Given the description of an element on the screen output the (x, y) to click on. 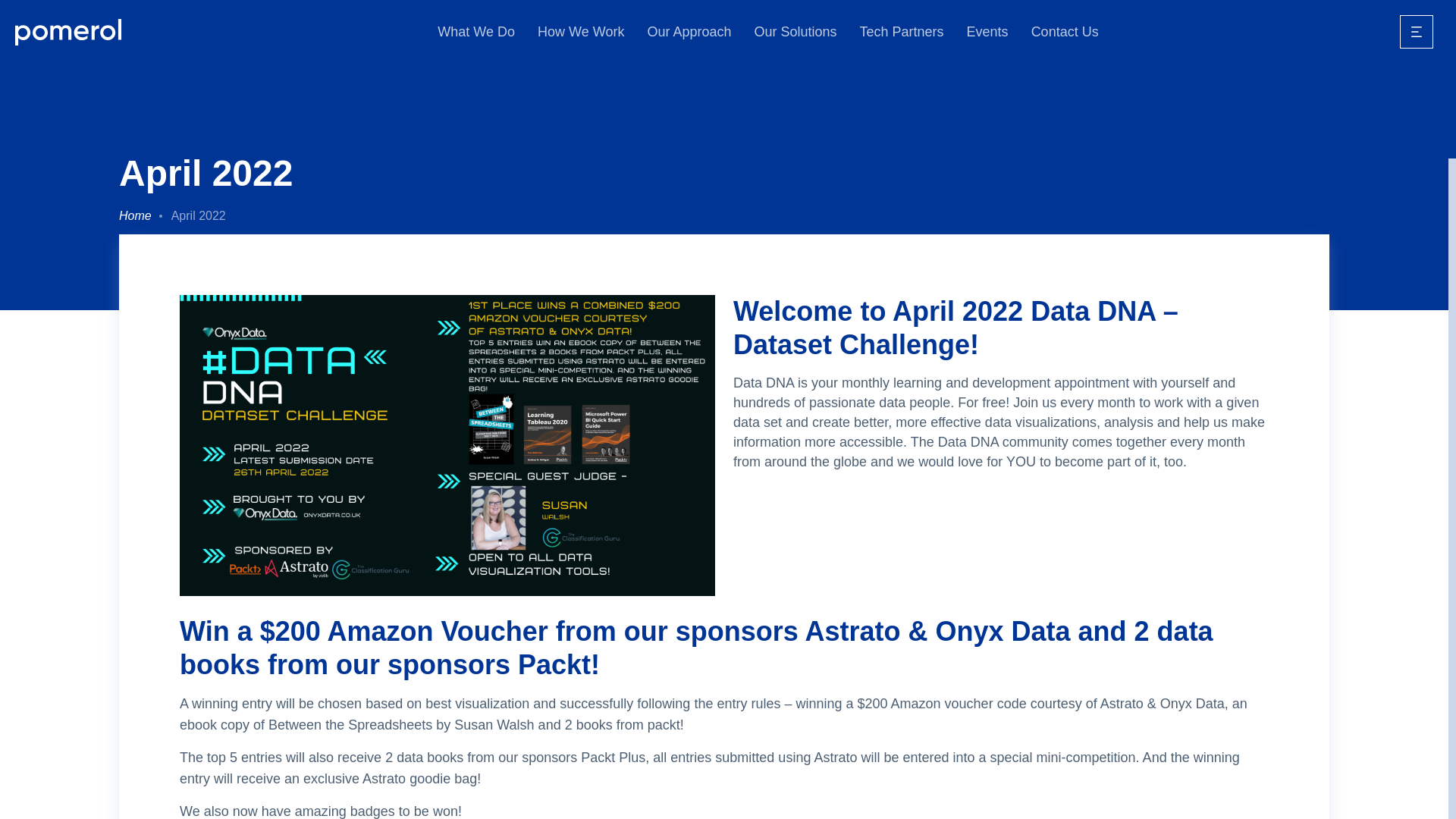
Home (135, 216)
Tech Partners (901, 31)
How We Work (580, 31)
Events (987, 31)
What We Do (476, 31)
Our Approach (688, 31)
Contact Us (1064, 31)
Go to pomerol. (135, 216)
Our Solutions (794, 31)
